Given the description of an element on the screen output the (x, y) to click on. 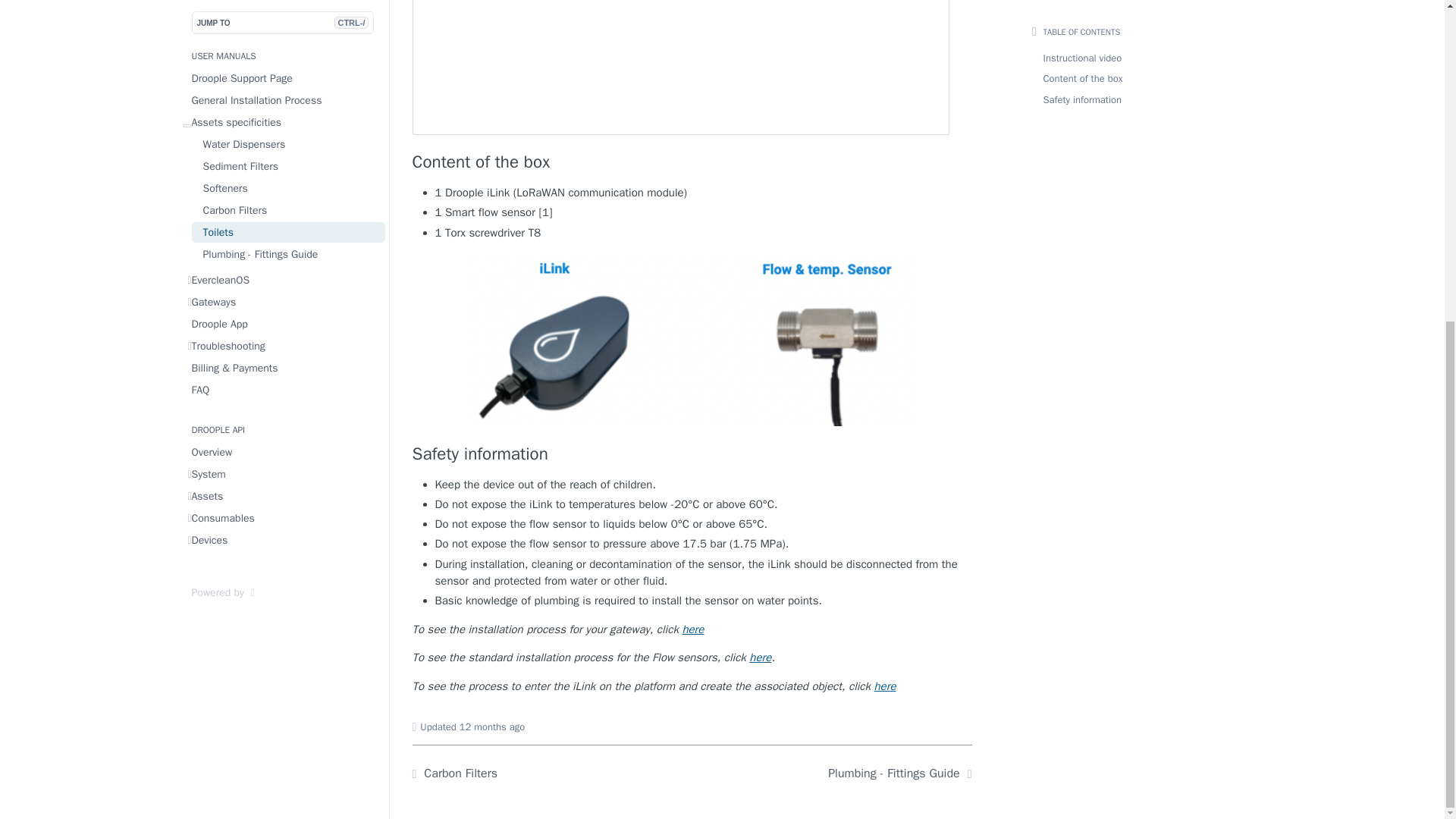
Content of the box (692, 161)
YouTube embed (686, 67)
Safety information (692, 454)
